Given the description of an element on the screen output the (x, y) to click on. 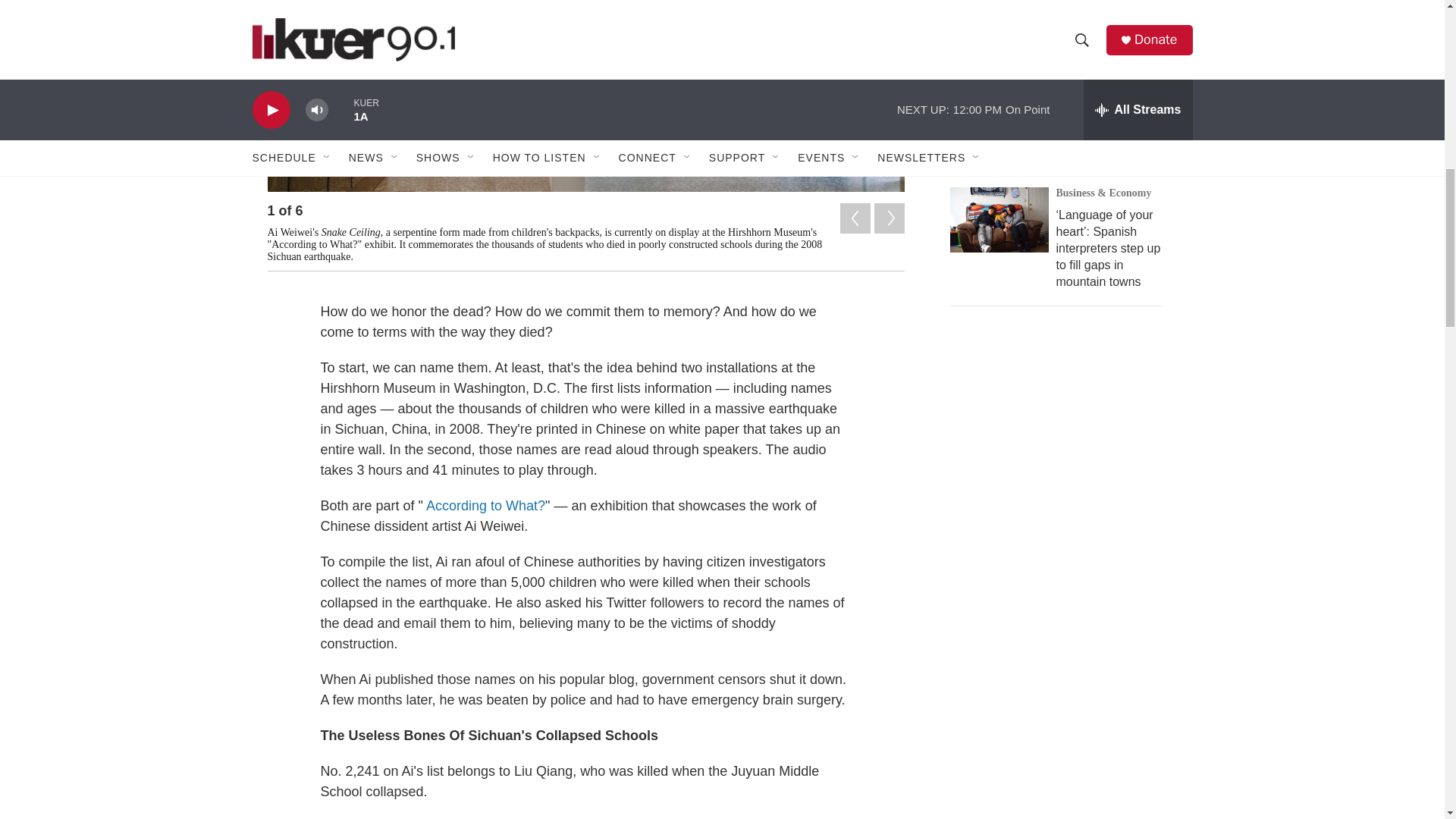
3rd party ad content (1062, 706)
3rd party ad content (1062, 450)
